Given the description of an element on the screen output the (x, y) to click on. 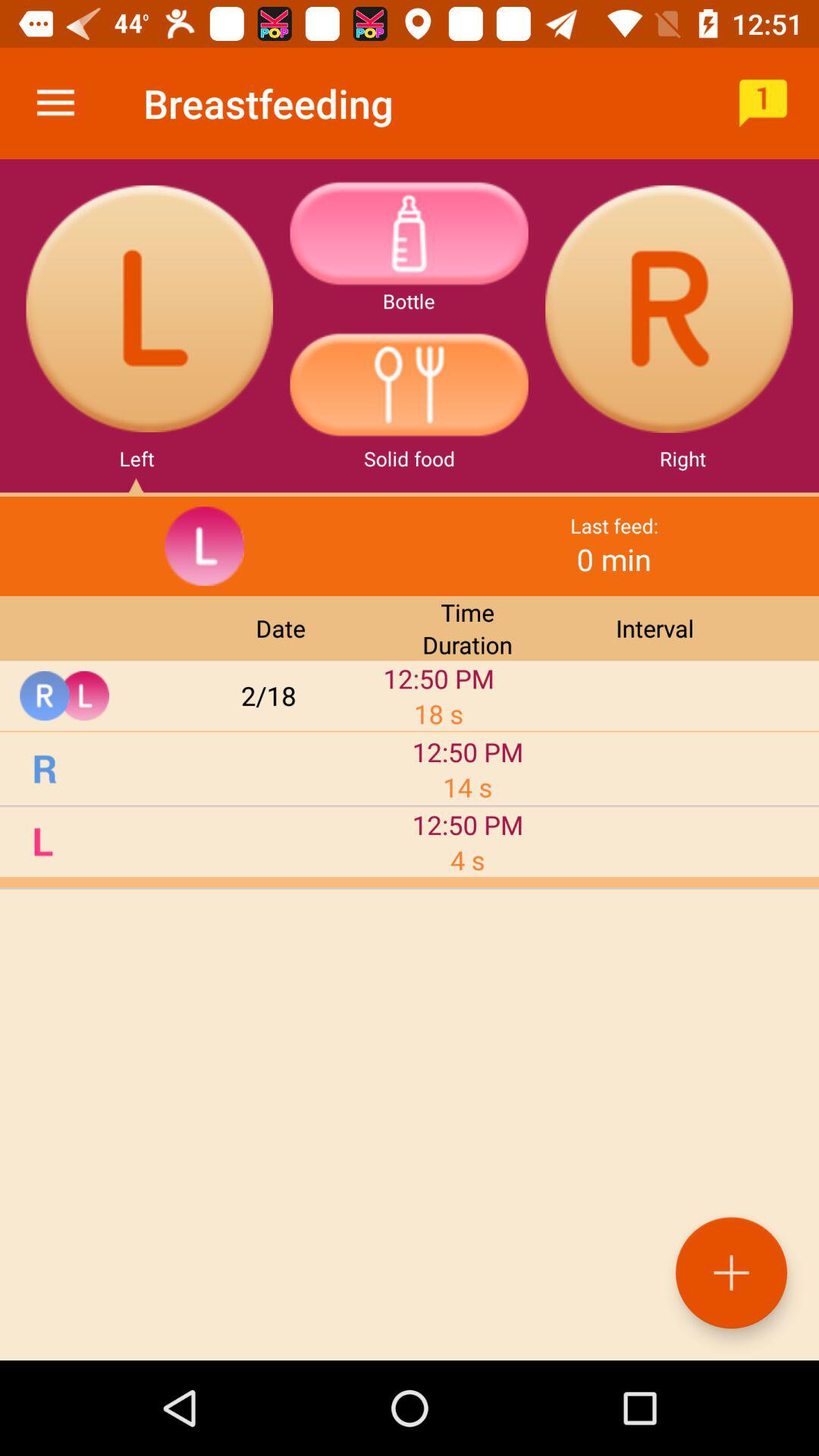
launch the item at the bottom right corner (731, 1272)
